Given the description of an element on the screen output the (x, y) to click on. 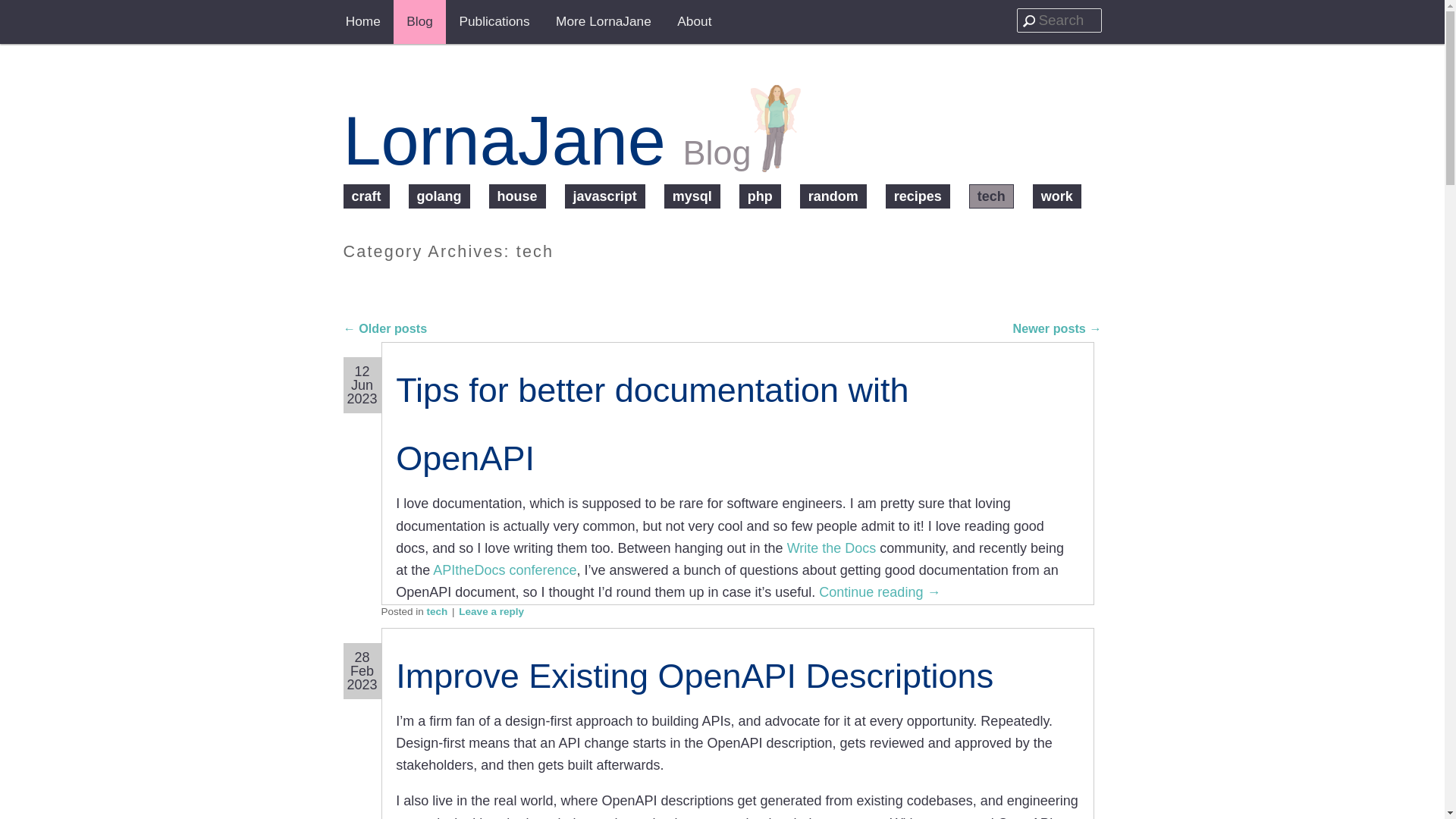
APItheDocs conference (504, 570)
LornaJane (503, 141)
LornaJane (775, 152)
golang (439, 196)
house (517, 196)
php (759, 196)
Skip to primary content (442, 27)
Blog (419, 22)
LornaJane (503, 141)
Permalink to Improve Existing OpenAPI Descriptions (694, 675)
Write the Docs (831, 548)
Skip to primary content (442, 27)
Skip to secondary content (453, 27)
recipes (917, 196)
More LornaJane (603, 22)
